Given the description of an element on the screen output the (x, y) to click on. 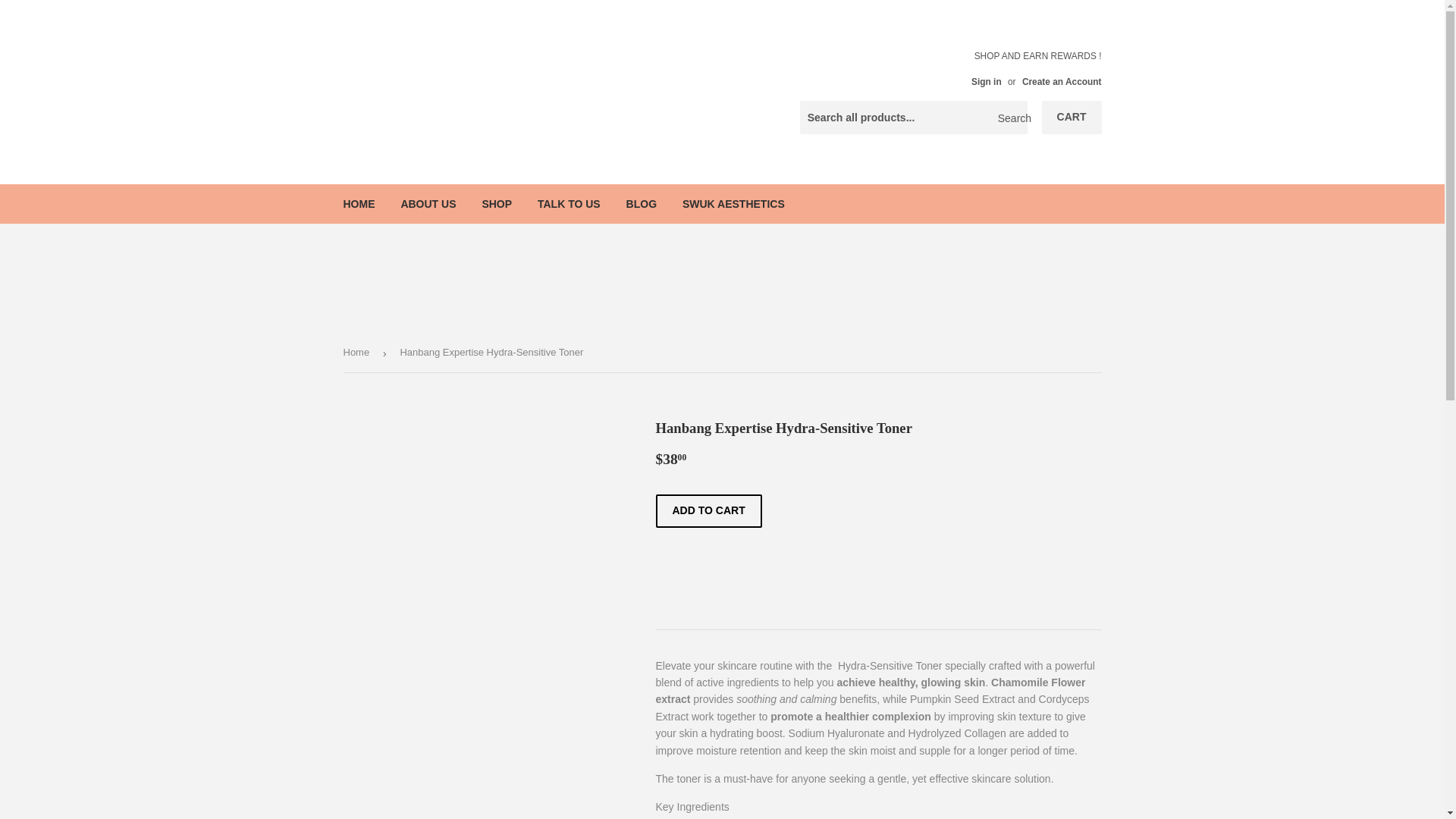
HOME (359, 202)
Search (1009, 118)
Sign in (986, 81)
SHOP (496, 202)
ABOUT US (427, 202)
Create an Account (1062, 81)
CART (1072, 117)
